Given the description of an element on the screen output the (x, y) to click on. 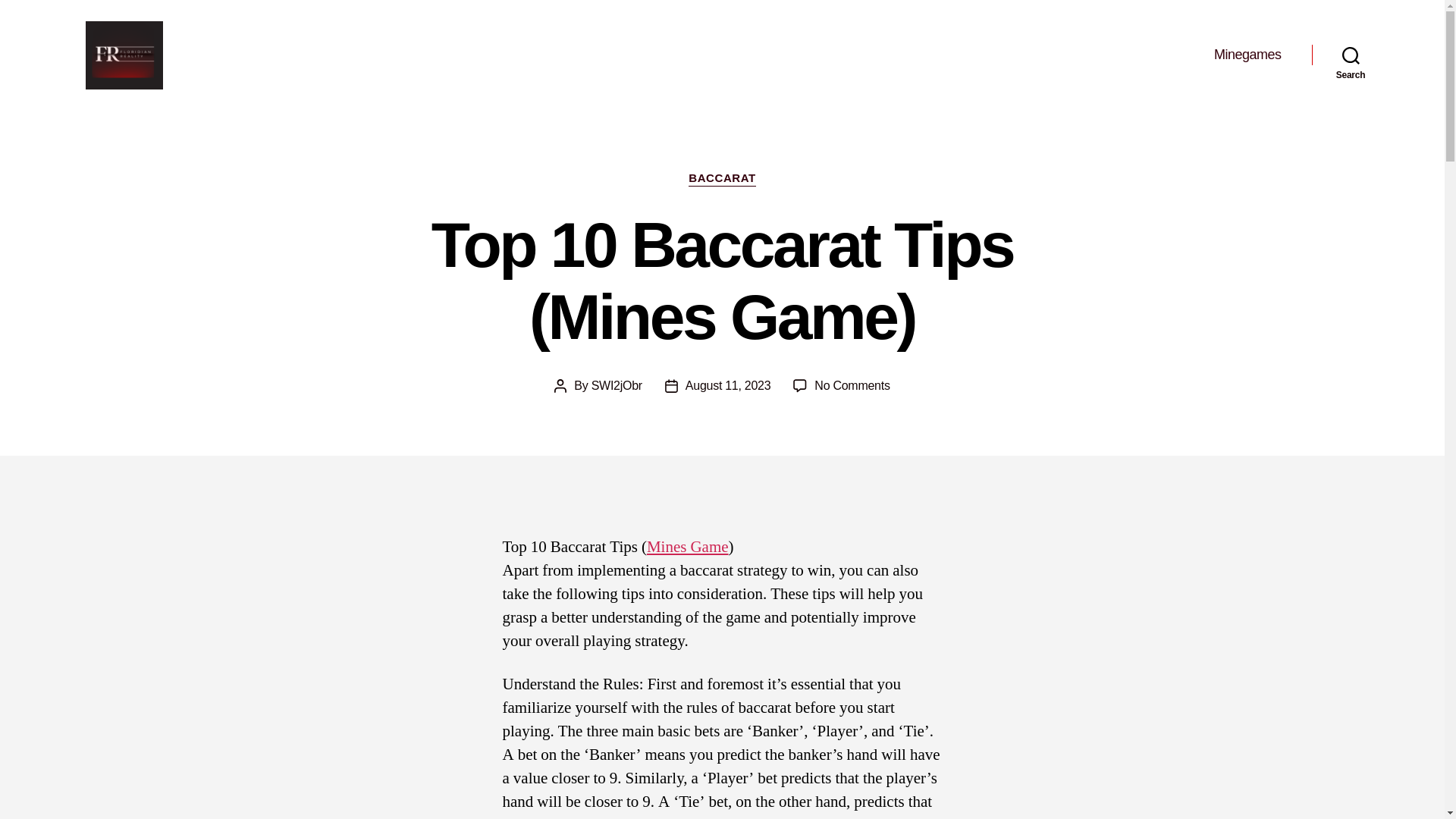
BACCARAT (721, 178)
Minegames (1247, 54)
August 11, 2023 (728, 385)
Mines Game (687, 547)
SWI2jObr (616, 385)
Search (1350, 55)
